Given the description of an element on the screen output the (x, y) to click on. 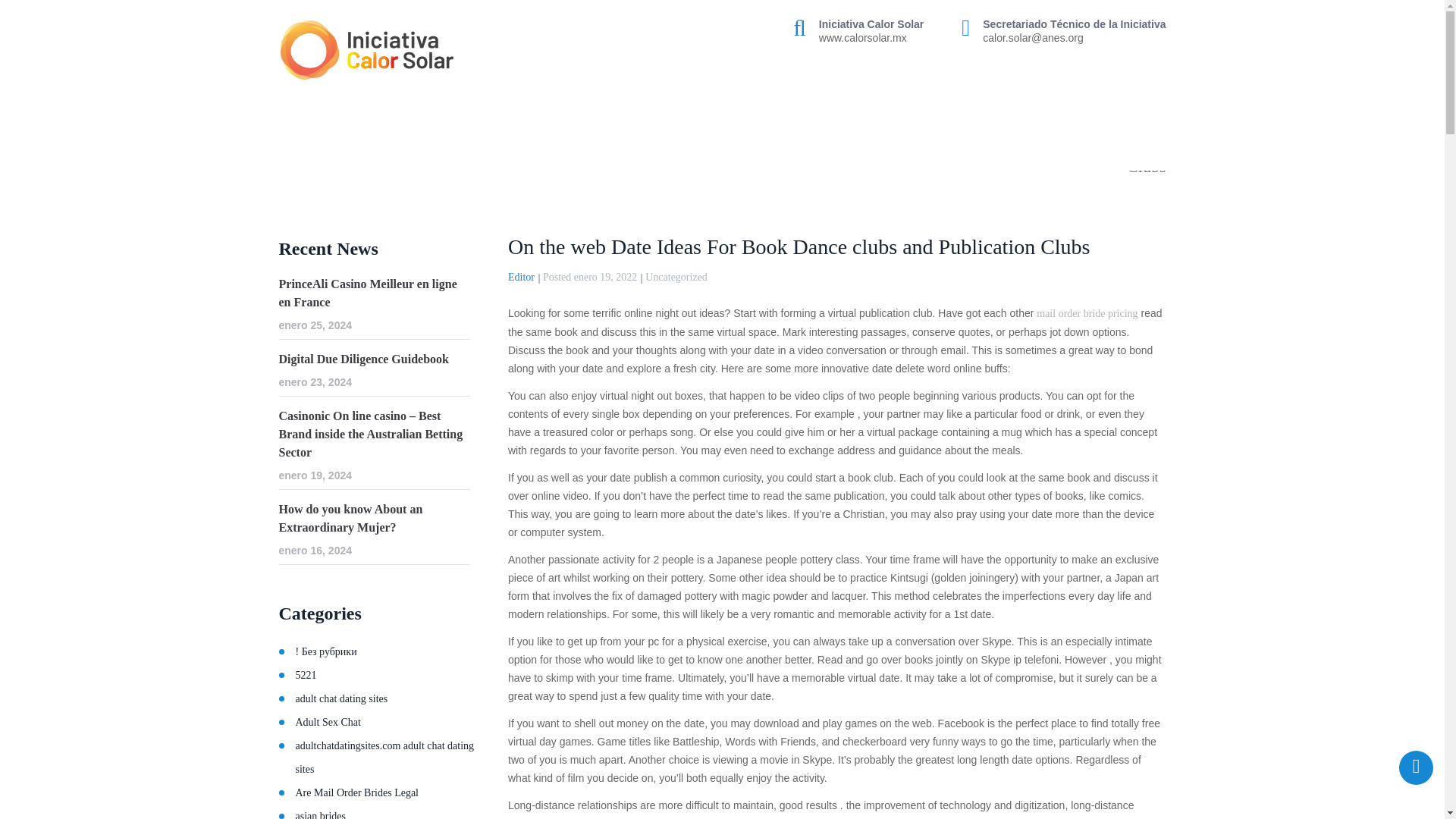
CAPITAL HUMANO (860, 101)
Calor Solar (366, 49)
mail order bride pricing (1086, 313)
Uncategorized (676, 276)
ACERCA DE LA INICIAITVA (450, 101)
RECURSOS MULTIMEDIA (1086, 101)
PrinceAli Casino Meilleur en ligne en France (374, 293)
NOTICIAS (965, 101)
Editor (521, 276)
Home (294, 147)
